Given the description of an element on the screen output the (x, y) to click on. 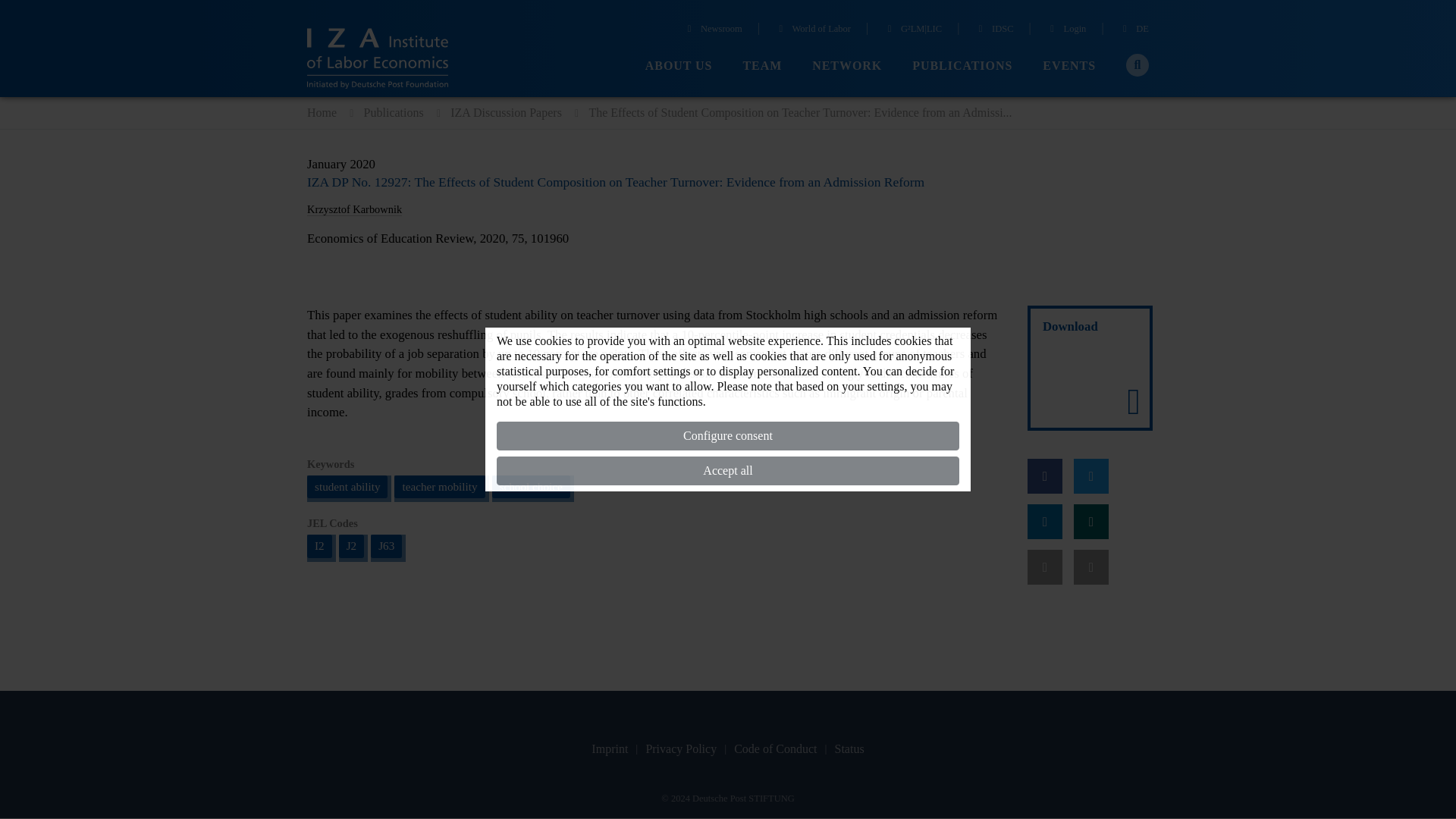
Login (1066, 30)
PUBLICATIONS (961, 66)
TEAM (761, 66)
ABOUT US (679, 66)
NETWORK (847, 66)
IDSC (993, 30)
DE (1133, 30)
World of Labor (812, 30)
Newsroom (712, 30)
EVENTS (1069, 66)
